Given the description of an element on the screen output the (x, y) to click on. 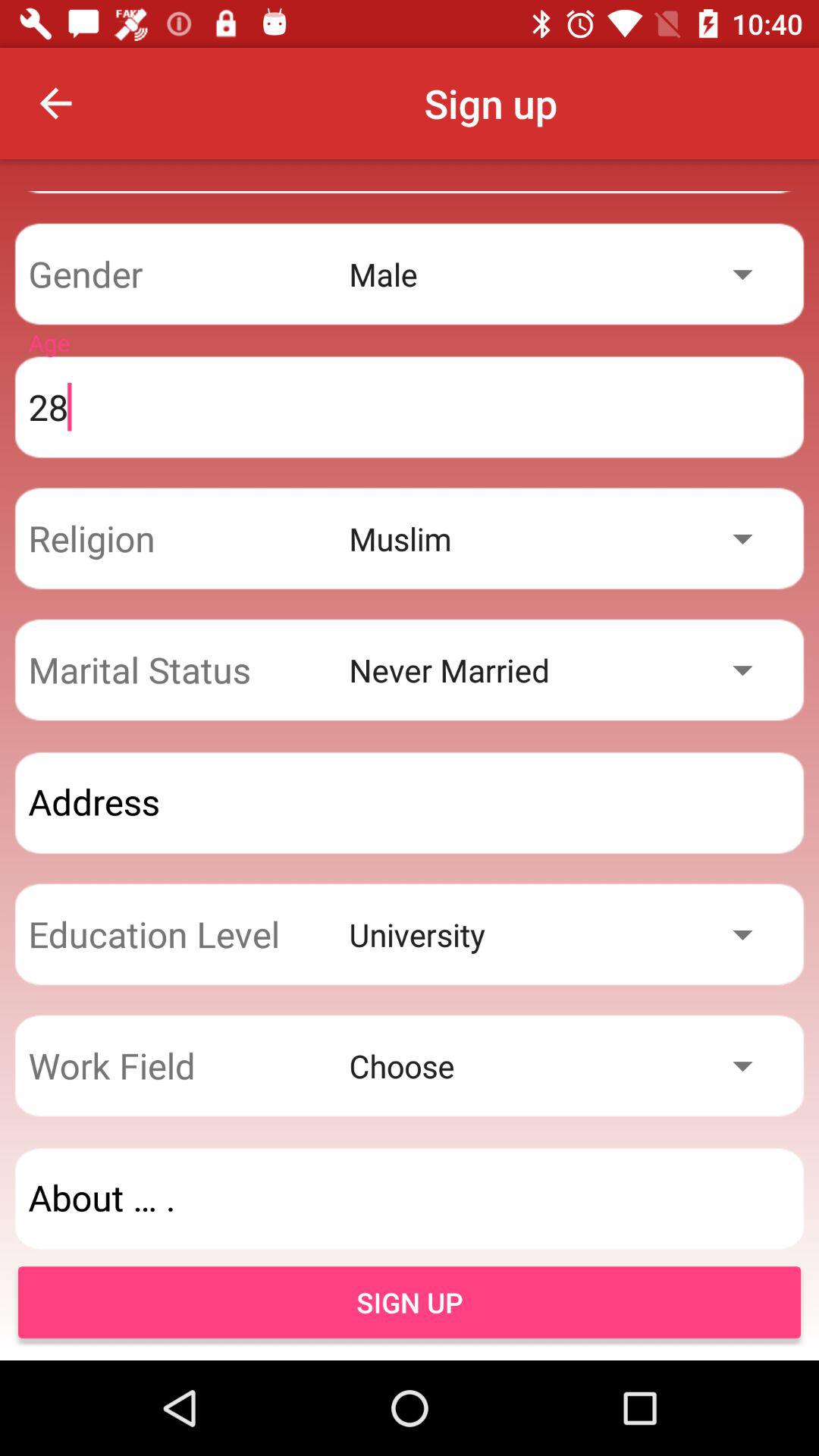
add current address (409, 802)
